Given the description of an element on the screen output the (x, y) to click on. 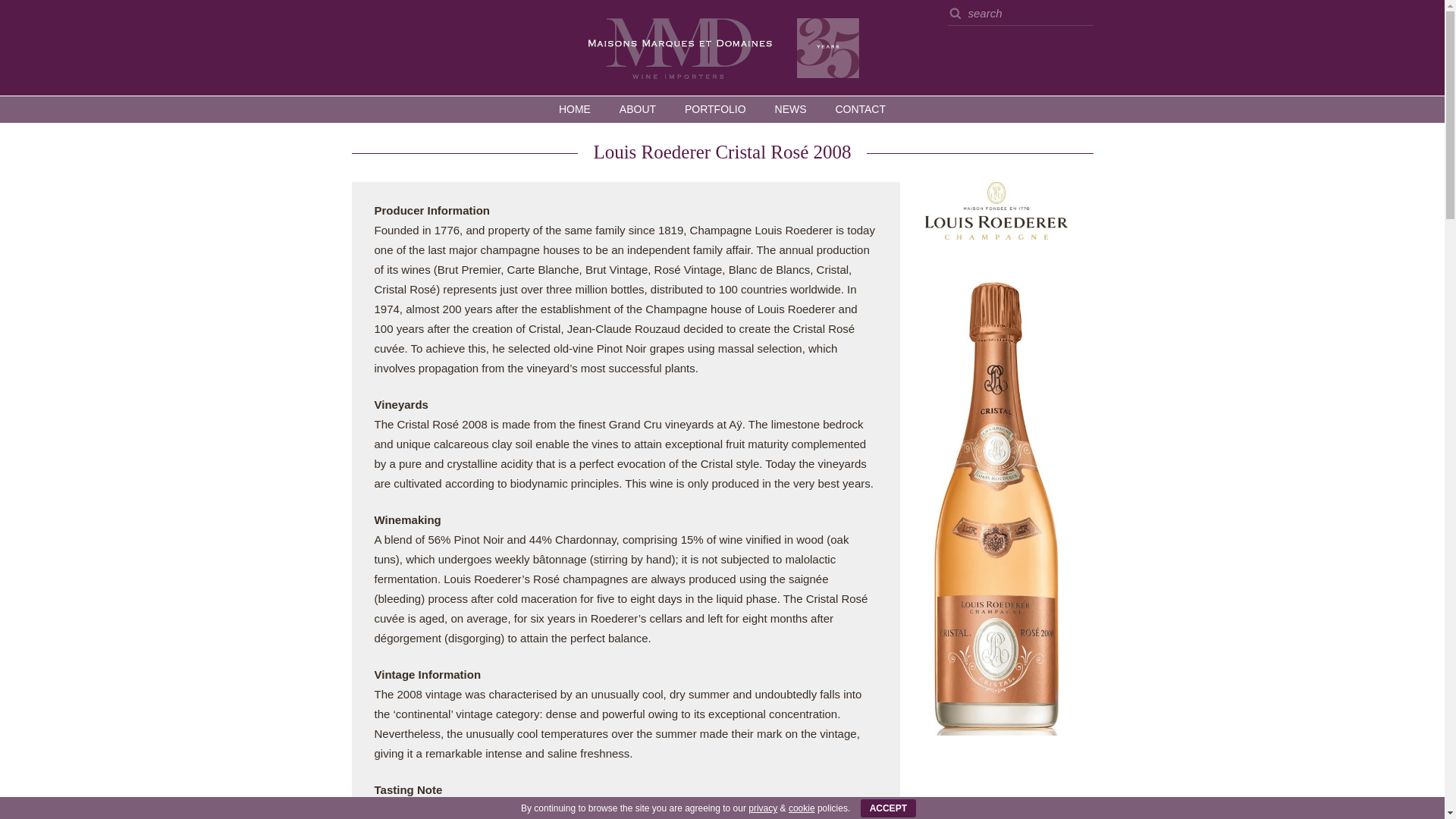
ABOUT (637, 109)
NEWS (790, 109)
ACCEPT (887, 808)
HOME (575, 109)
CONTACT (860, 109)
cookie (802, 808)
privacy (762, 808)
PORTFOLIO (714, 109)
